Given the description of an element on the screen output the (x, y) to click on. 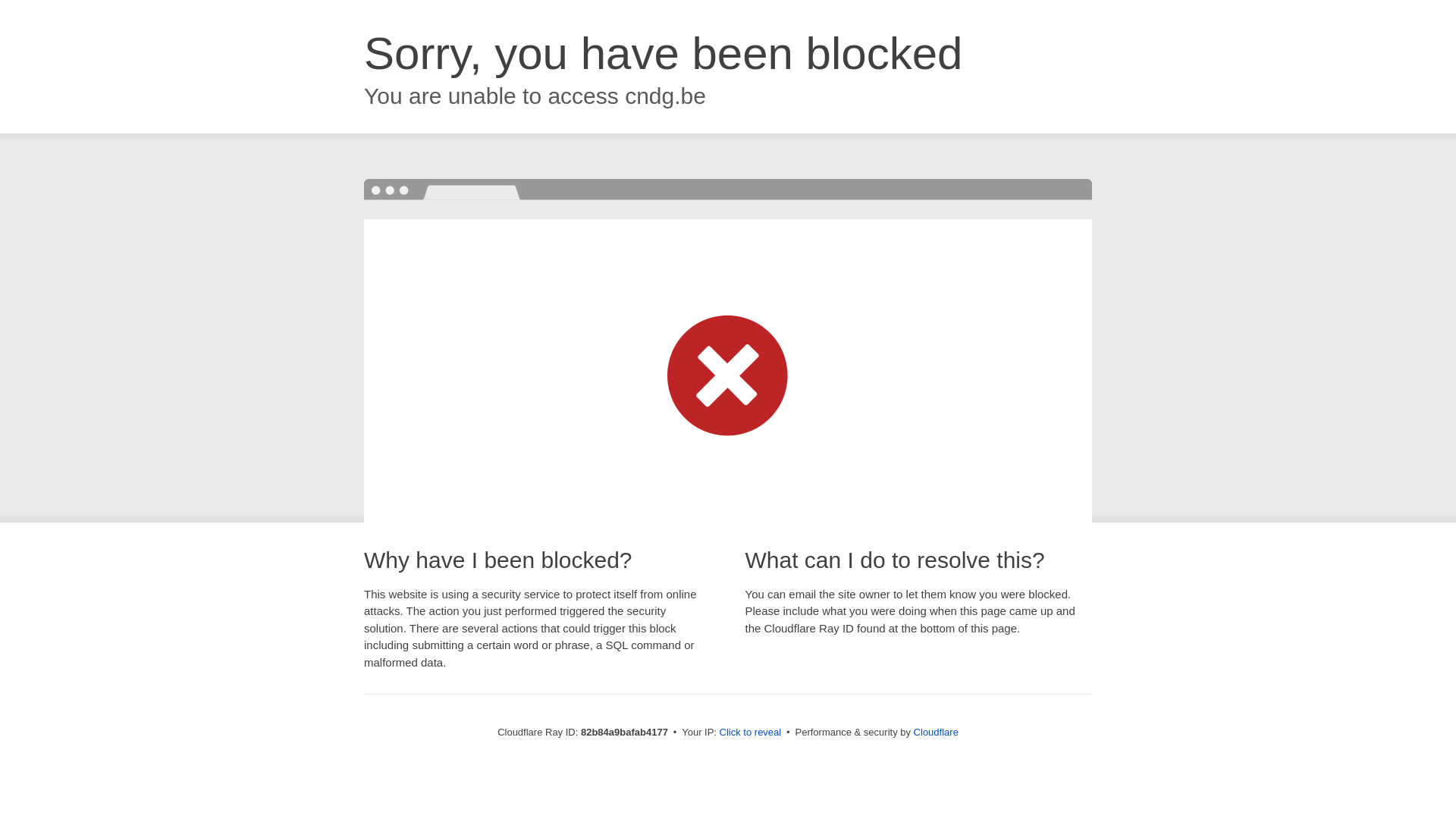
Cloudflare Element type: text (935, 731)
Click to reveal Element type: text (750, 732)
